Given the description of an element on the screen output the (x, y) to click on. 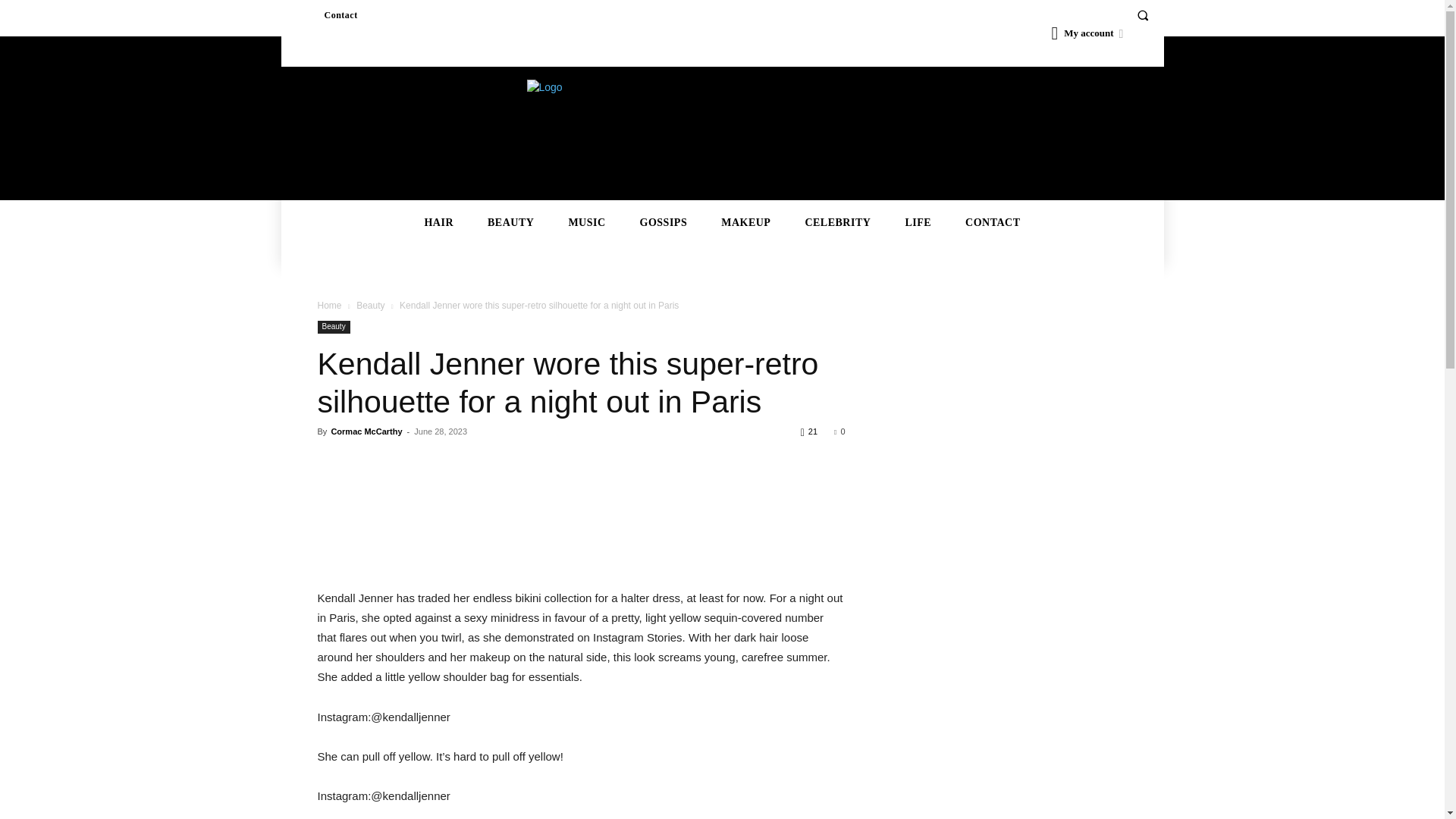
Home (328, 305)
CELEBRITY (837, 222)
GOSSIPS (663, 222)
CONTACT (991, 222)
LIFE (917, 222)
HAIR (438, 222)
BEAUTY (510, 222)
Contact (340, 15)
MAKEUP (745, 222)
View all posts in Beauty (370, 305)
